Given the description of an element on the screen output the (x, y) to click on. 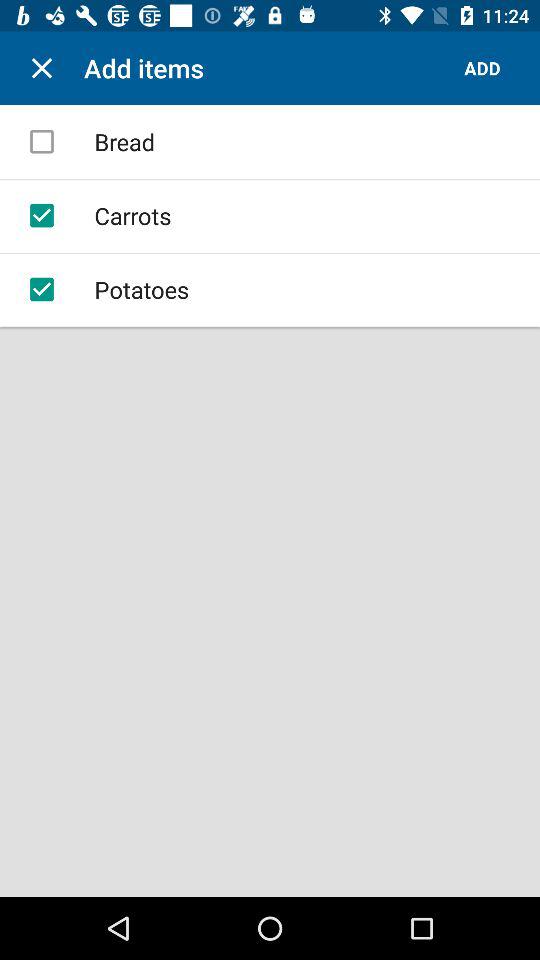
click item to the left of add items item (42, 68)
